Given the description of an element on the screen output the (x, y) to click on. 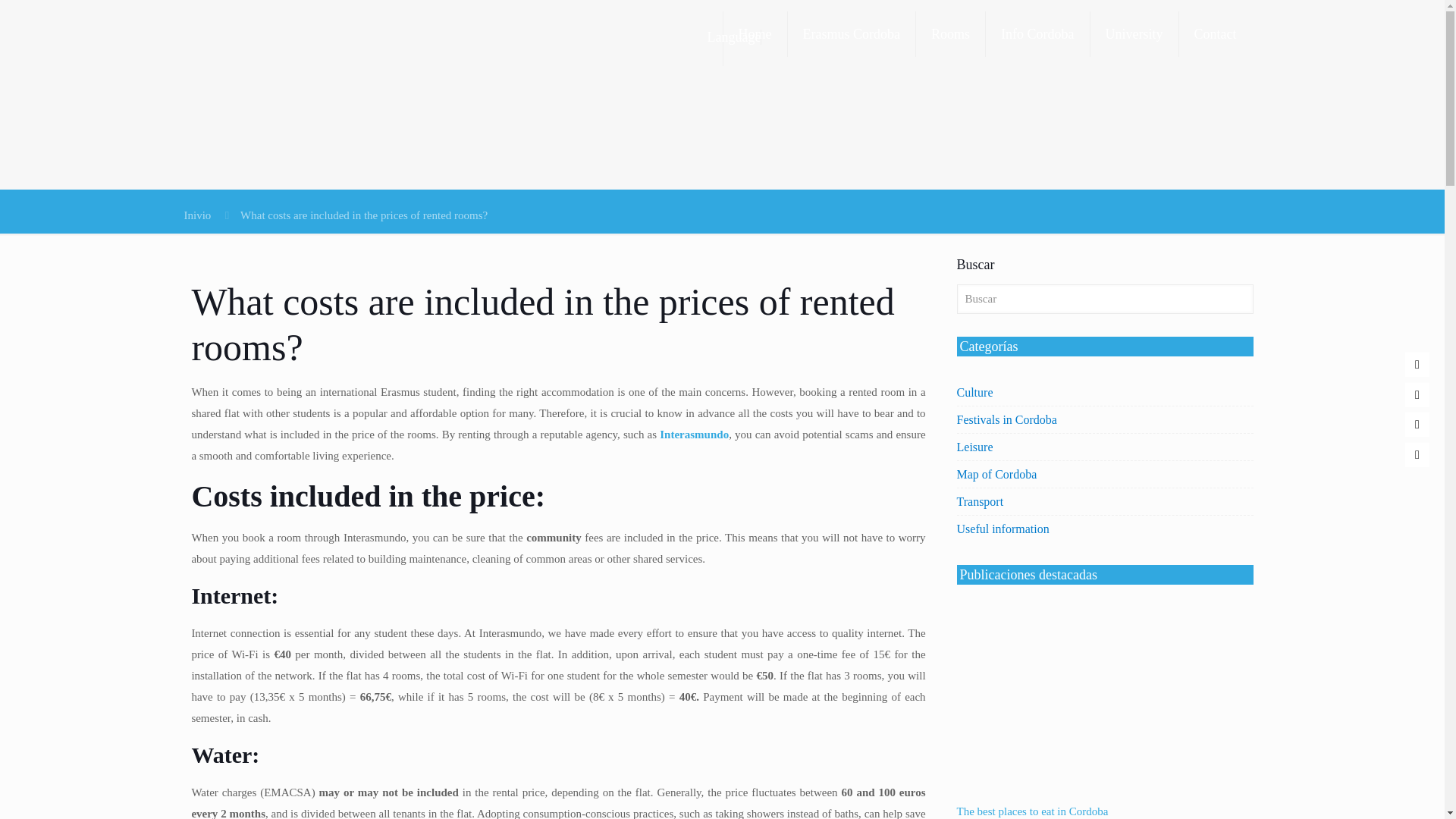
Contact (1213, 33)
Transport (980, 501)
Erasmus Cordoba (851, 33)
University (1134, 33)
Home (755, 33)
Culture (974, 392)
Rooms (950, 33)
Festivals in Cordoba (1006, 419)
Interasmundo (694, 434)
The best places to eat in Cordoba (1032, 811)
Useful information (1002, 528)
The best places to eat in Cordoba (1104, 789)
Map of Cordoba (996, 474)
Language (676, 38)
Info Cordoba (1037, 33)
